Given the description of an element on the screen output the (x, y) to click on. 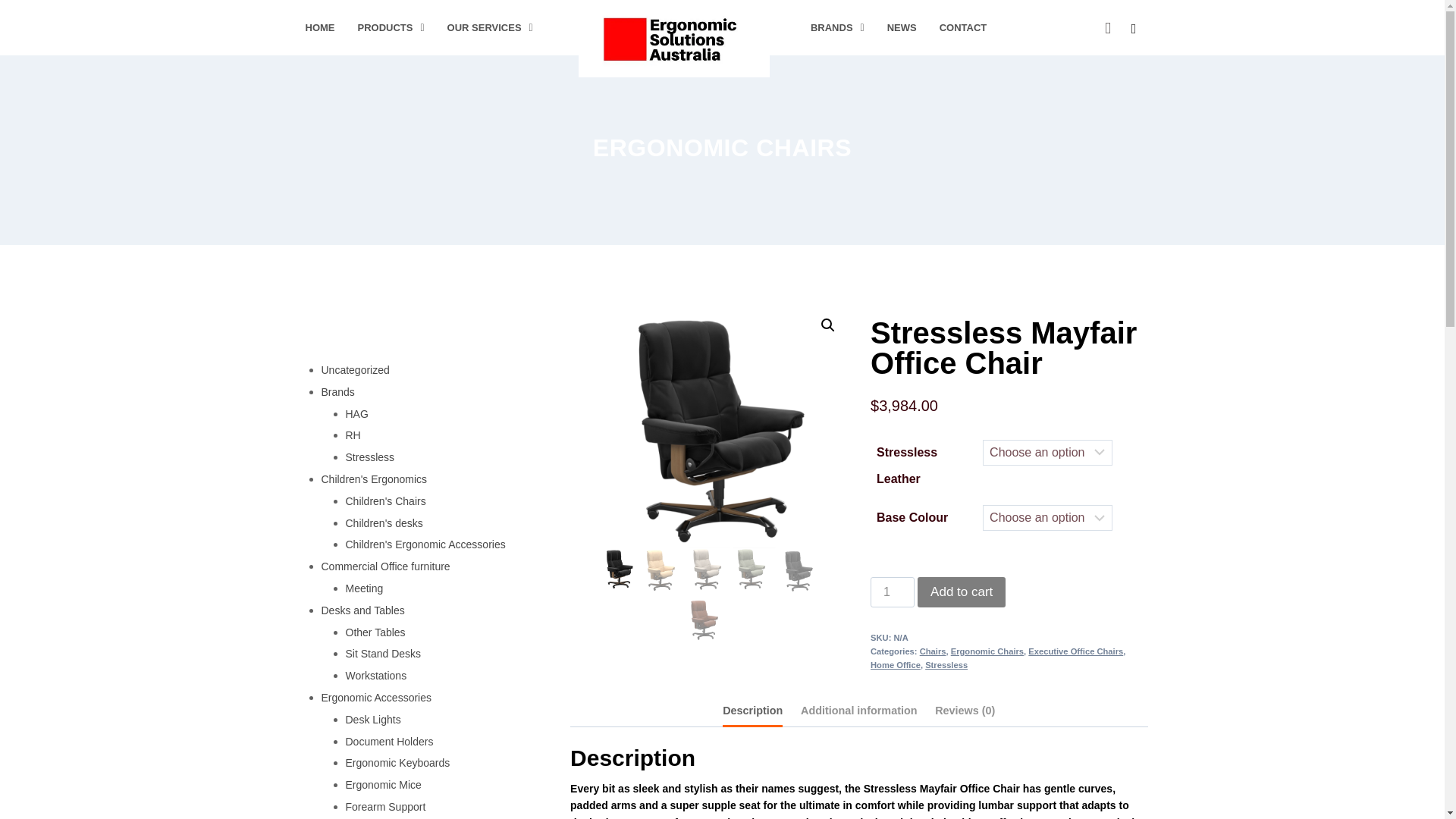
NEWS (902, 27)
1 (892, 592)
OUR SERVICES (489, 27)
CONTACT (963, 27)
4-1.png (985, 441)
1-1.png (708, 436)
BRANDS (837, 27)
HOME (320, 27)
PRODUCTS (390, 27)
